Given the description of an element on the screen output the (x, y) to click on. 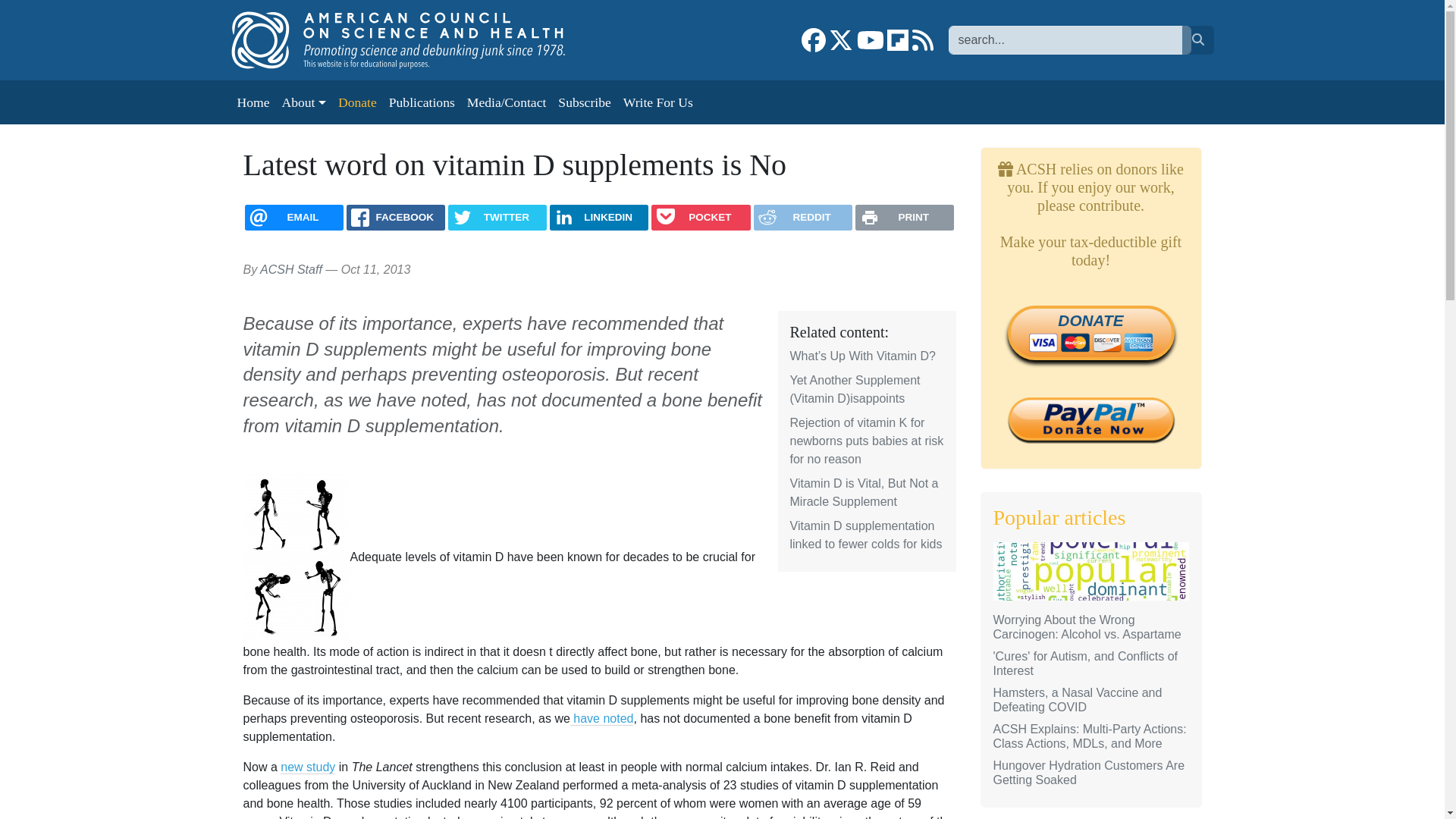
Publications (421, 101)
search (1196, 39)
FACEBOOK (395, 217)
Skip to main content (60, 10)
Vitamin D is Vital, But Not a Miracle Supplement (864, 491)
Write For Us (657, 101)
have noted (601, 718)
TWITTER (497, 217)
EMAIL (293, 217)
